Given the description of an element on the screen output the (x, y) to click on. 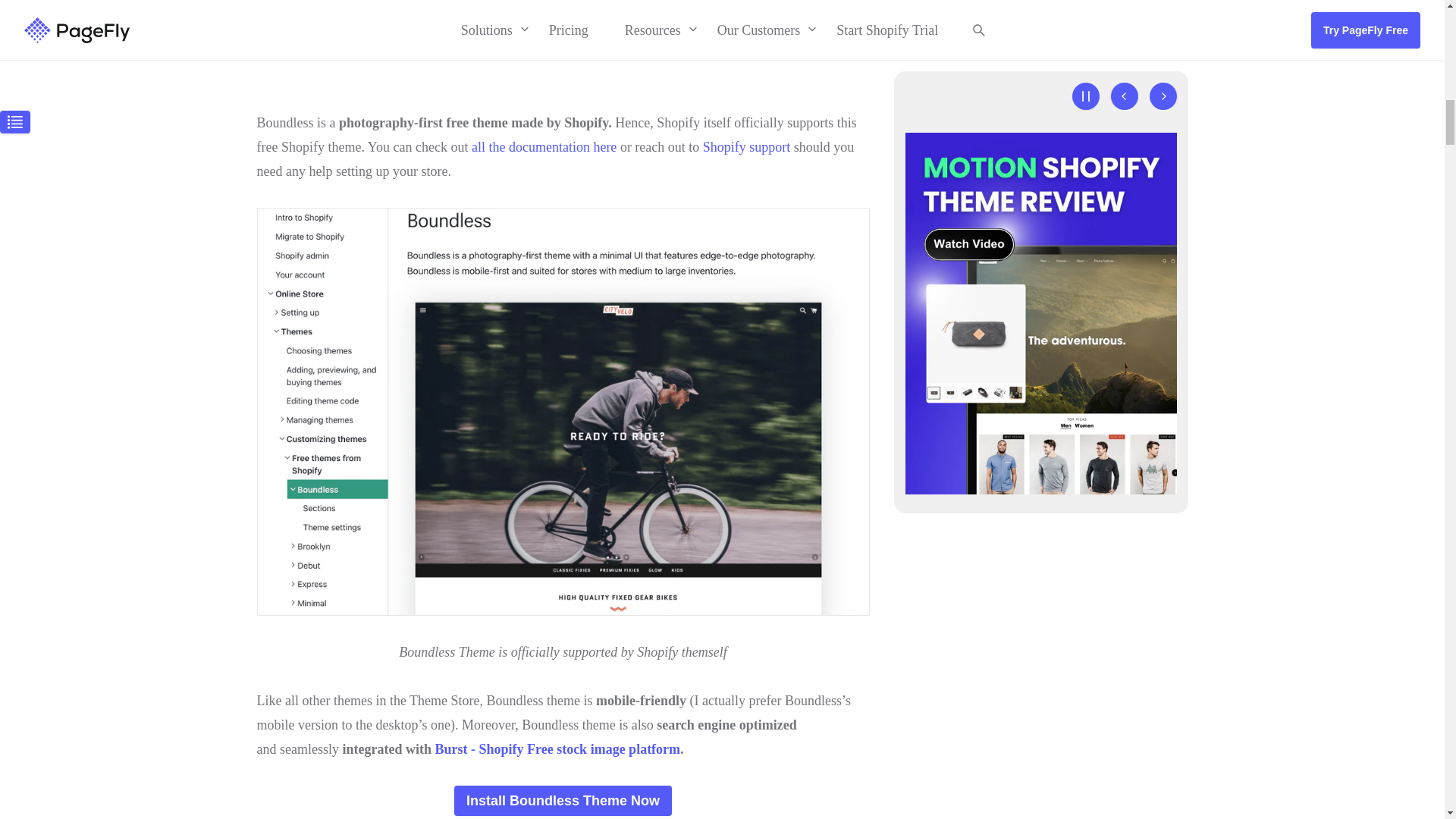
YouTube video player (562, 51)
Open Shopify Online Store (562, 800)
